Given the description of an element on the screen output the (x, y) to click on. 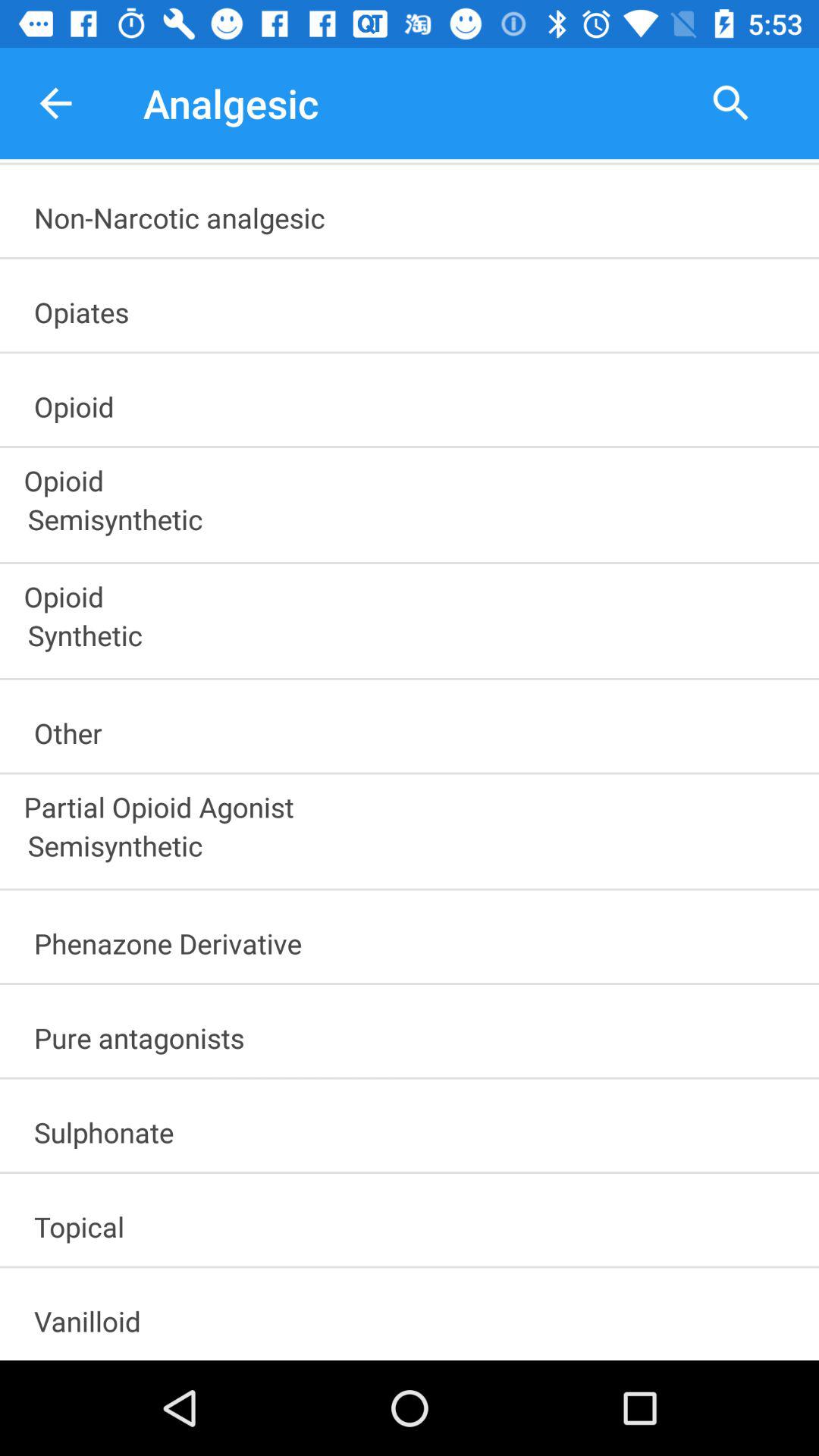
choose the item to the right of analgesic (731, 103)
